Given the description of an element on the screen output the (x, y) to click on. 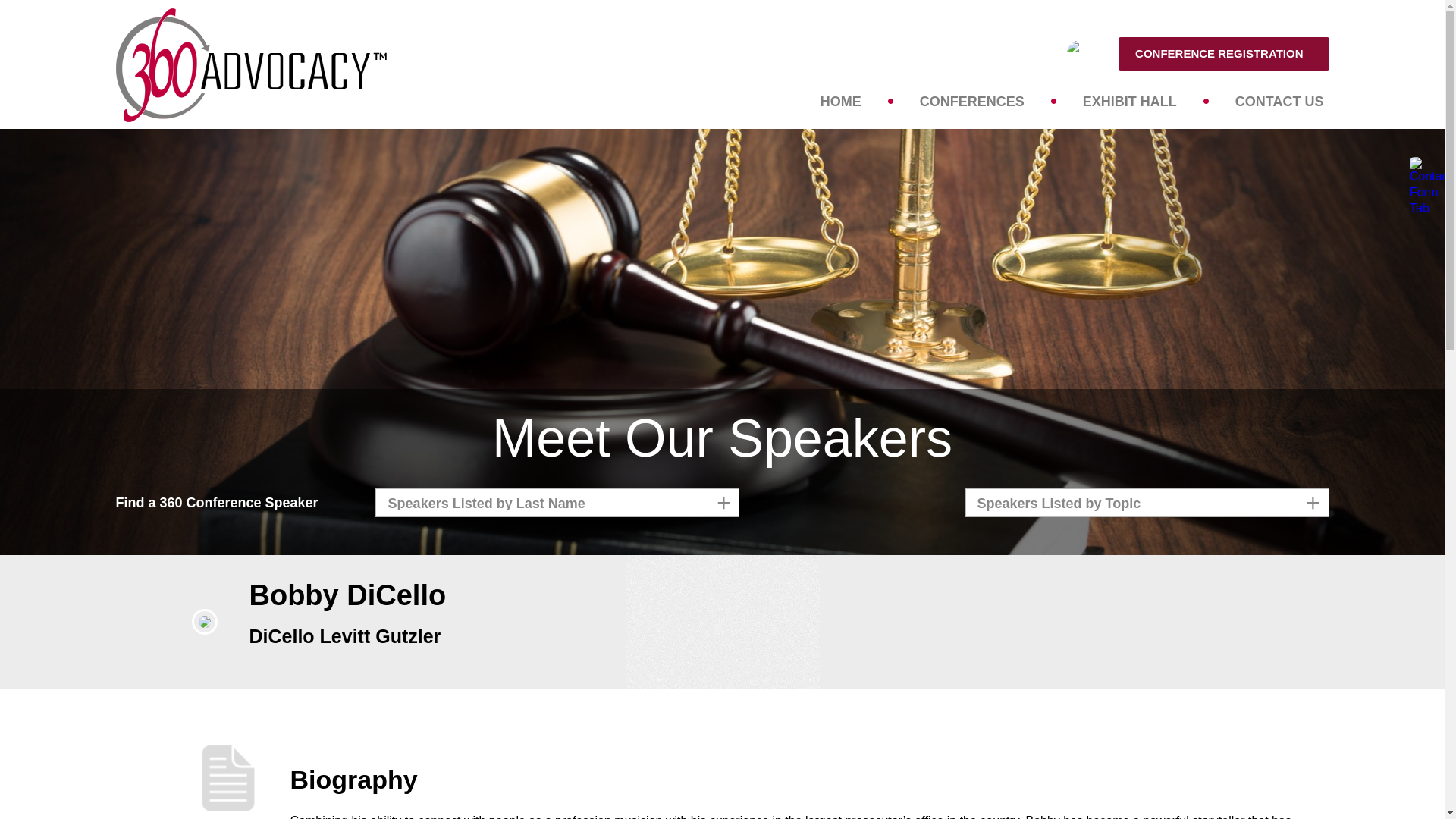
CONFERENCES Element type: text (971, 100)
CONFERENCE REGISTRATION Element type: text (1223, 53)
search Element type: hover (1148, 67)
EXHIBIT HALL Element type: text (1129, 100)
Speakers Listed by Topic Element type: text (1146, 502)
CONTACT US Element type: text (1279, 100)
HOME Element type: text (840, 100)
